Given the description of an element on the screen output the (x, y) to click on. 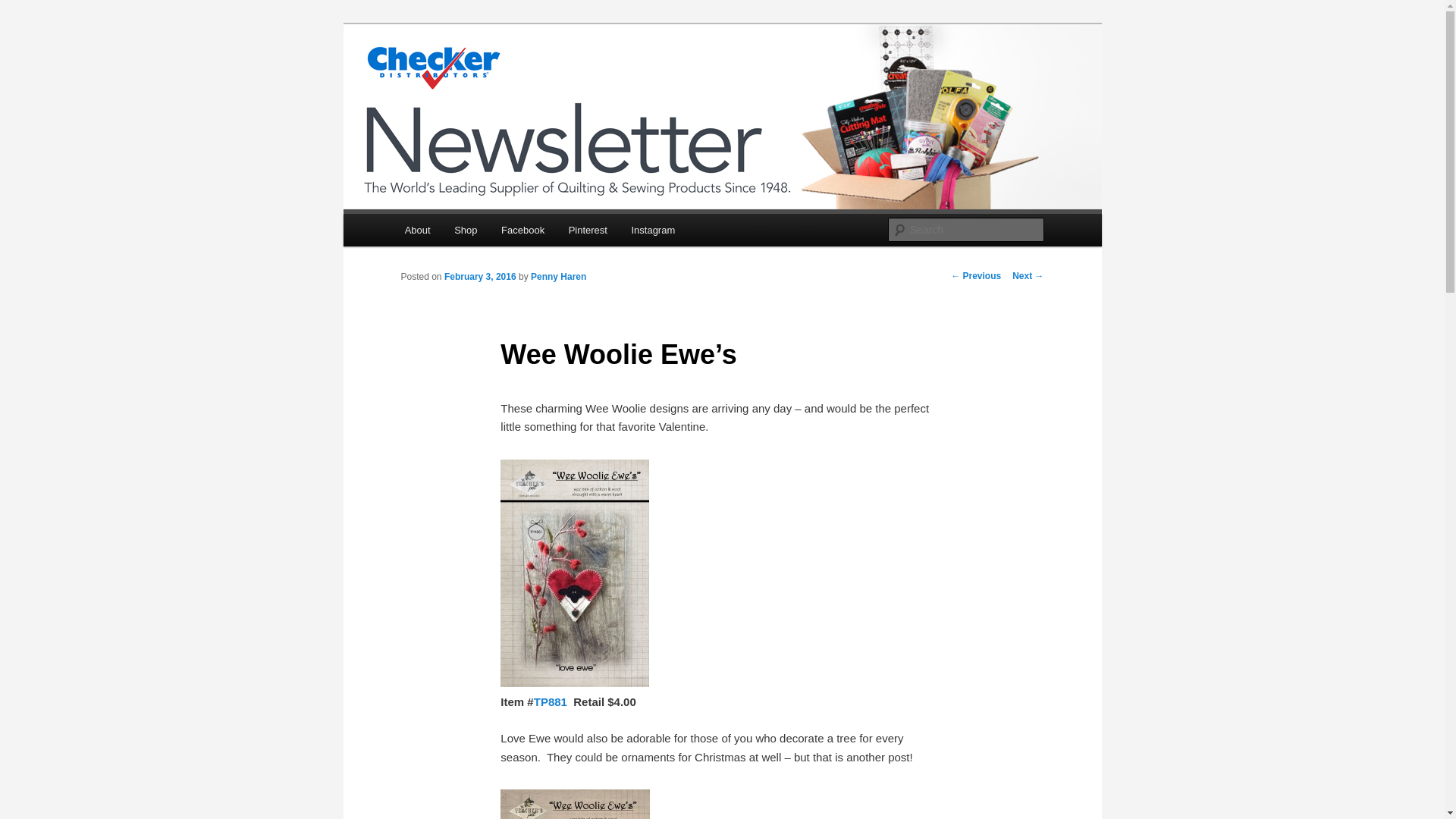
Instagram (653, 229)
TP881 (550, 700)
View all posts by Penny Haren (558, 276)
Checker News Blog (506, 78)
About (417, 229)
8:00 am (480, 276)
Search (24, 8)
February 3, 2016 (480, 276)
Penny Haren (558, 276)
Shop (465, 229)
Pinterest (588, 229)
Facebook (522, 229)
